Given the description of an element on the screen output the (x, y) to click on. 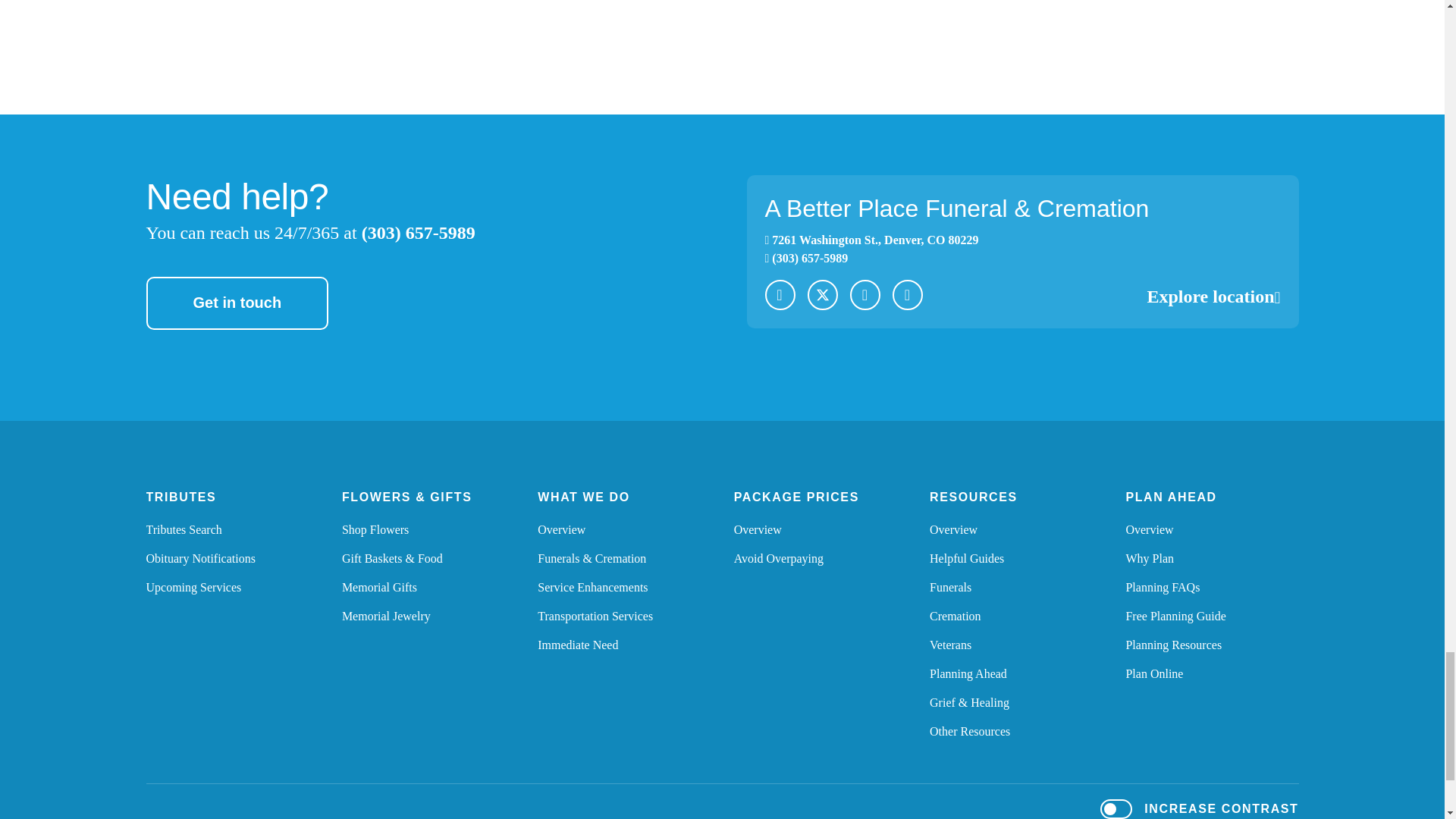
Upcoming Services (193, 586)
TRIBUTES (180, 496)
Get in touch (237, 303)
LinkedIn (871, 239)
Shop Flowers (863, 295)
Explore location (375, 529)
YouTube (1213, 296)
Facebook (906, 295)
Obituary Notifications (779, 295)
Tributes Search (199, 558)
Twitter (183, 529)
